Given the description of an element on the screen output the (x, y) to click on. 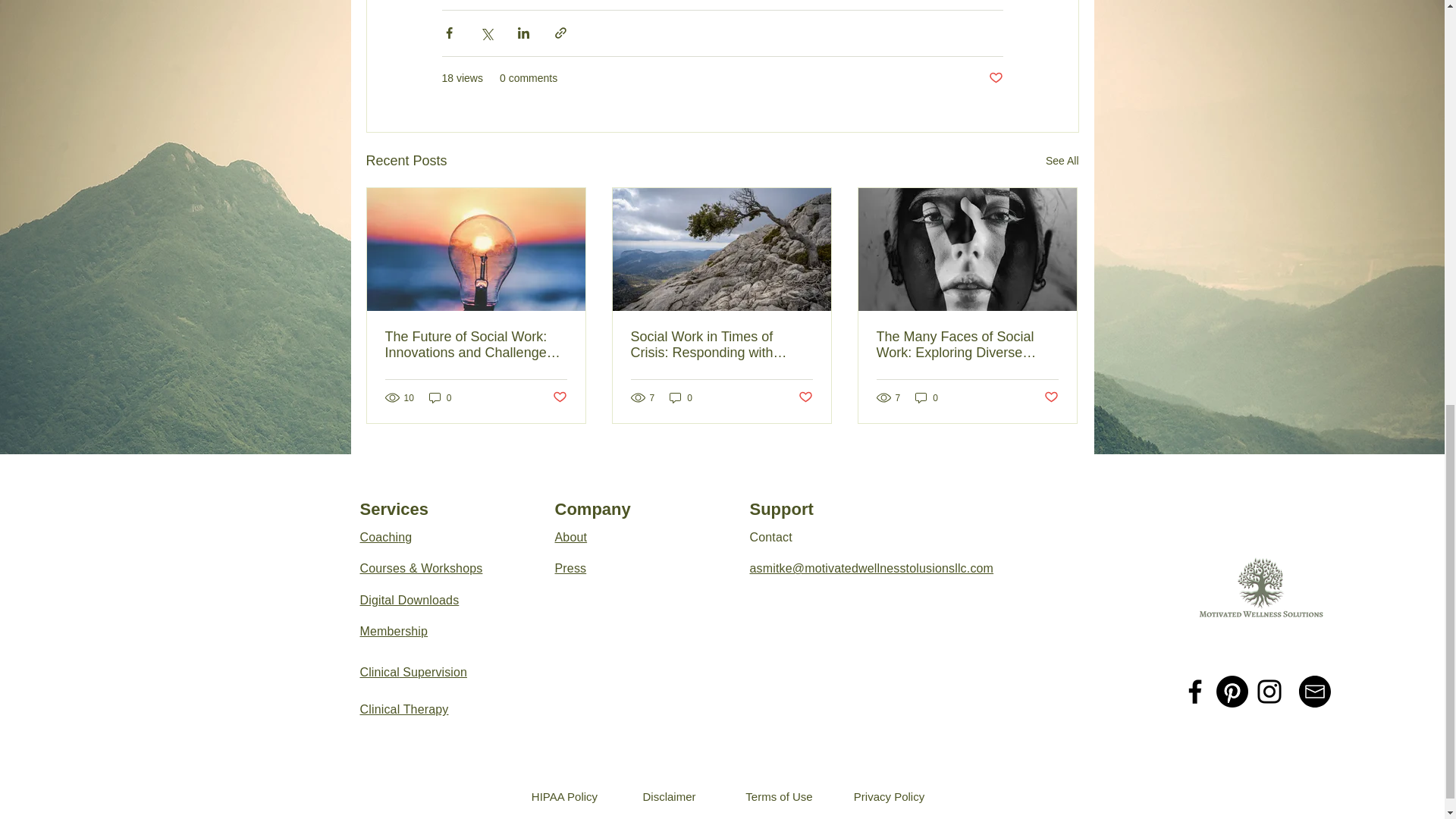
0 (440, 397)
Membership (393, 631)
Post not marked as liked (995, 78)
0 (926, 397)
Social Work in Times of Crisis: Responding with Resilience (721, 345)
See All (1061, 160)
Press (570, 567)
Post not marked as liked (804, 397)
Post not marked as liked (558, 397)
0 (681, 397)
The Future of Social Work: Innovations and Challenges Ahead (476, 345)
Coaching (385, 536)
Digital Downloads (408, 599)
About (571, 536)
